Given the description of an element on the screen output the (x, y) to click on. 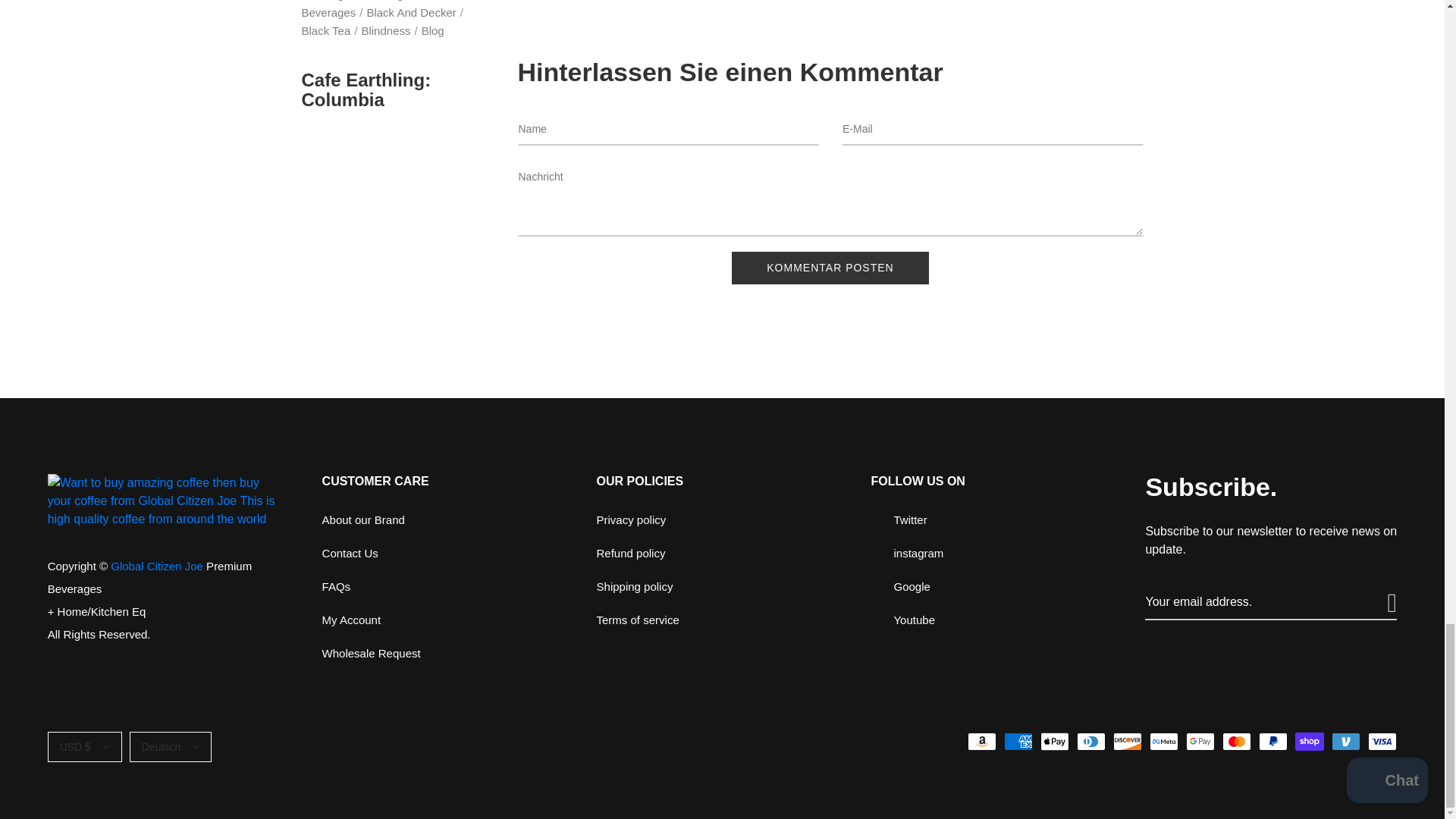
American Express (1018, 741)
Amazon (981, 741)
Apple Pay (1054, 741)
Visa (1382, 741)
Discover (1127, 741)
Diners Club (1091, 741)
Venmo (1345, 741)
Meta Pay (1163, 741)
Mastercard (1236, 741)
Shop Pay (1309, 741)
